Given the description of an element on the screen output the (x, y) to click on. 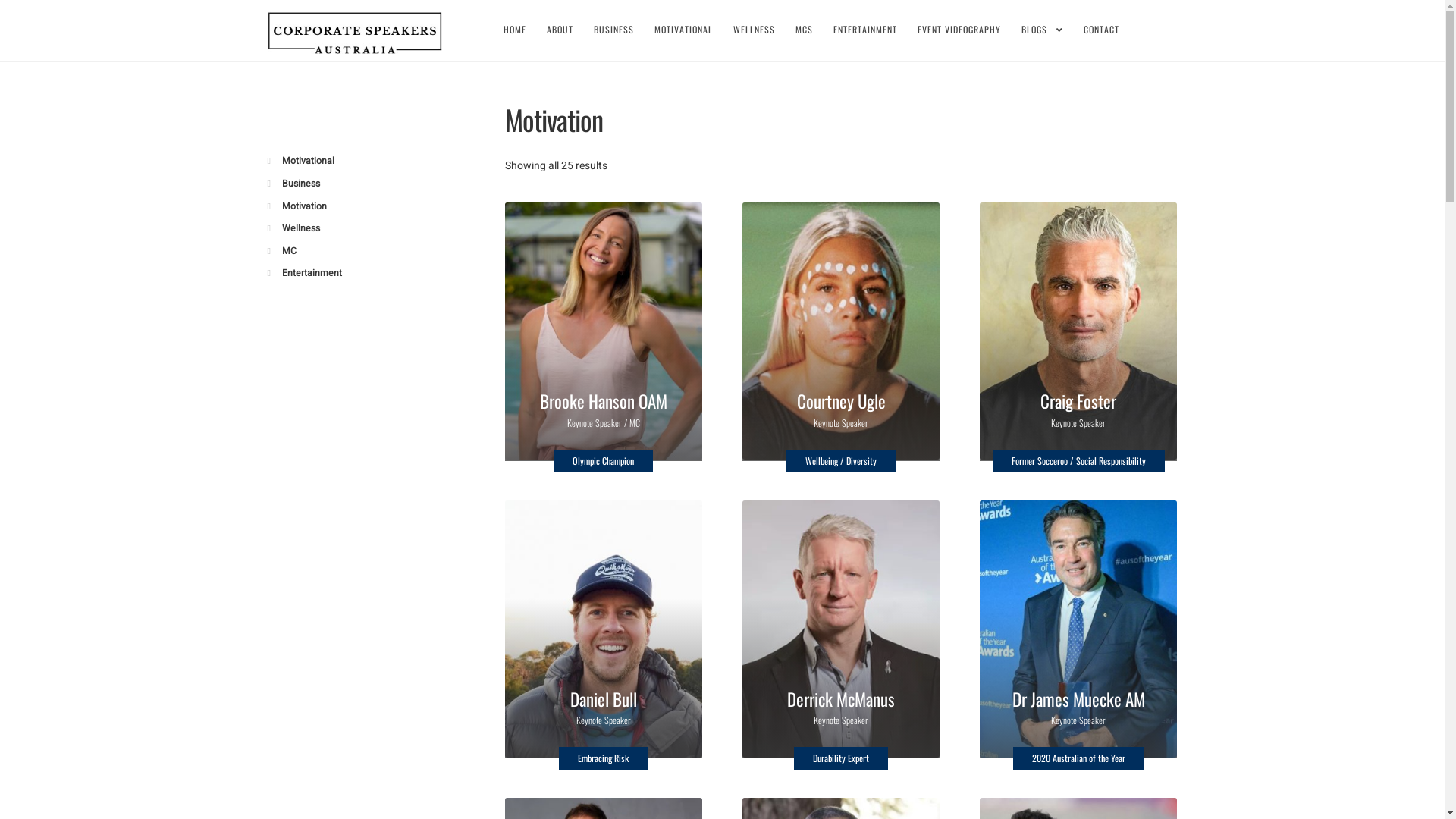
BLOGS Element type: text (1042, 29)
MCS Element type: text (804, 29)
MC Element type: text (289, 250)
CONTACT Element type: text (1101, 29)
Daniel Bull
Keynote Speaker
Embracing Risk Element type: text (603, 629)
BUSINESS Element type: text (613, 29)
Entertainment Element type: text (312, 272)
Derrick McManus
Keynote Speaker
Durability Expert Element type: text (841, 629)
ENTERTAINMENT Element type: text (865, 29)
Business Element type: text (301, 183)
Motivational Element type: text (308, 160)
Wellness Element type: text (301, 228)
Motivation Element type: text (304, 206)
EVENT VIDEOGRAPHY Element type: text (959, 29)
HOME Element type: text (514, 29)
Brooke Hanson OAM
Keynote Speaker / MC
Olympic Champion Element type: text (603, 331)
WELLNESS Element type: text (754, 29)
MOTIVATIONAL Element type: text (683, 29)
ABOUT Element type: text (559, 29)
Courtney Ugle
Keynote Speaker
Wellbeing / Diversity Element type: text (841, 331)
